Given the description of an element on the screen output the (x, y) to click on. 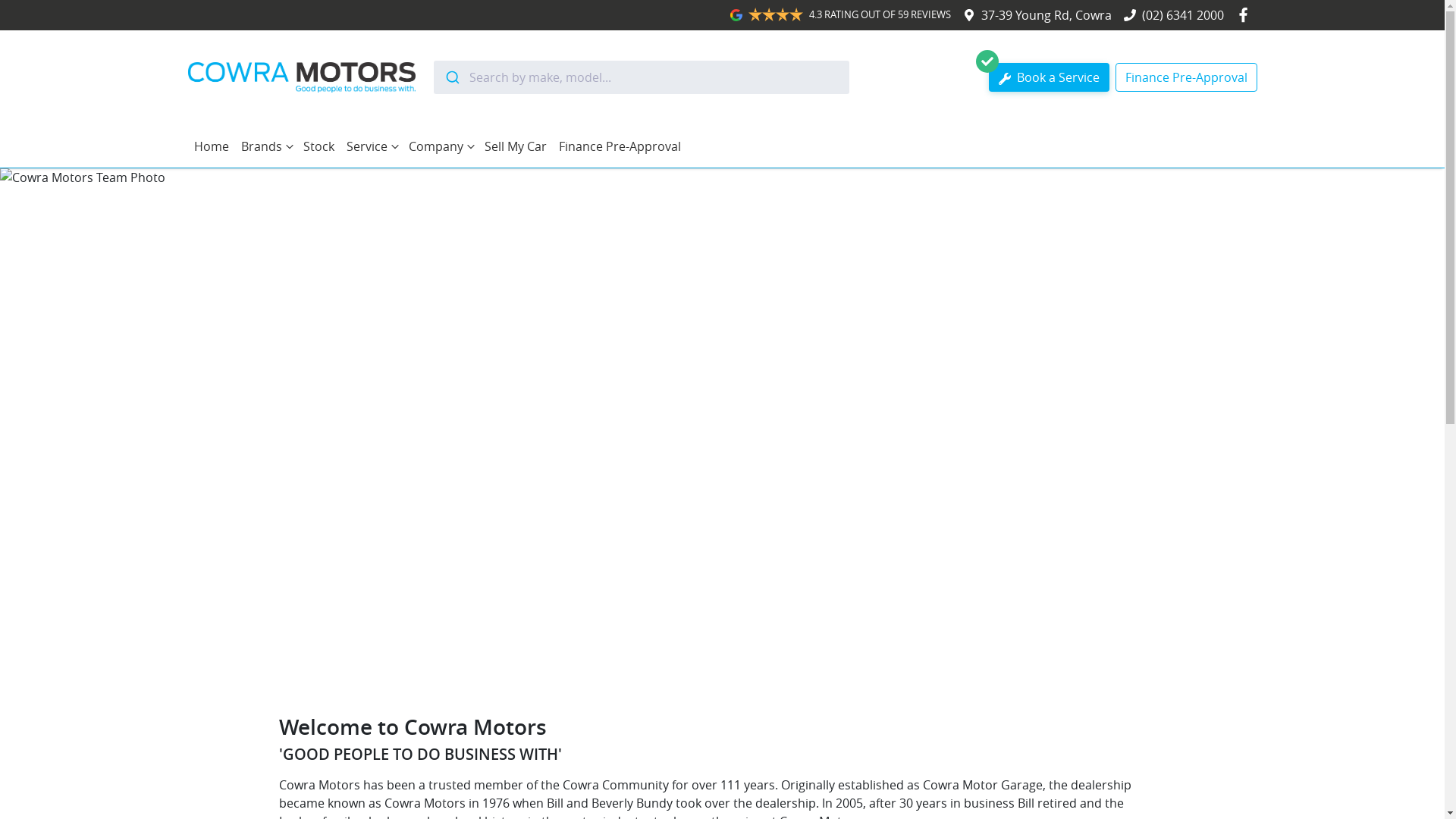
Submit Element type: hover (451, 77)
Service Element type: text (370, 146)
Finance Pre-Approval Element type: text (1185, 76)
Company Element type: text (439, 146)
Book a Service Element type: text (1048, 76)
Brands Element type: text (266, 146)
Stock Element type: text (318, 146)
37-39 Young Rd, Cowra Element type: text (1046, 14)
Finance Pre-Approval Element type: text (619, 146)
(02) 6341 2000 Element type: text (1182, 14)
Sell My Car Element type: text (514, 146)
Home Element type: text (211, 146)
